Given the description of an element on the screen output the (x, y) to click on. 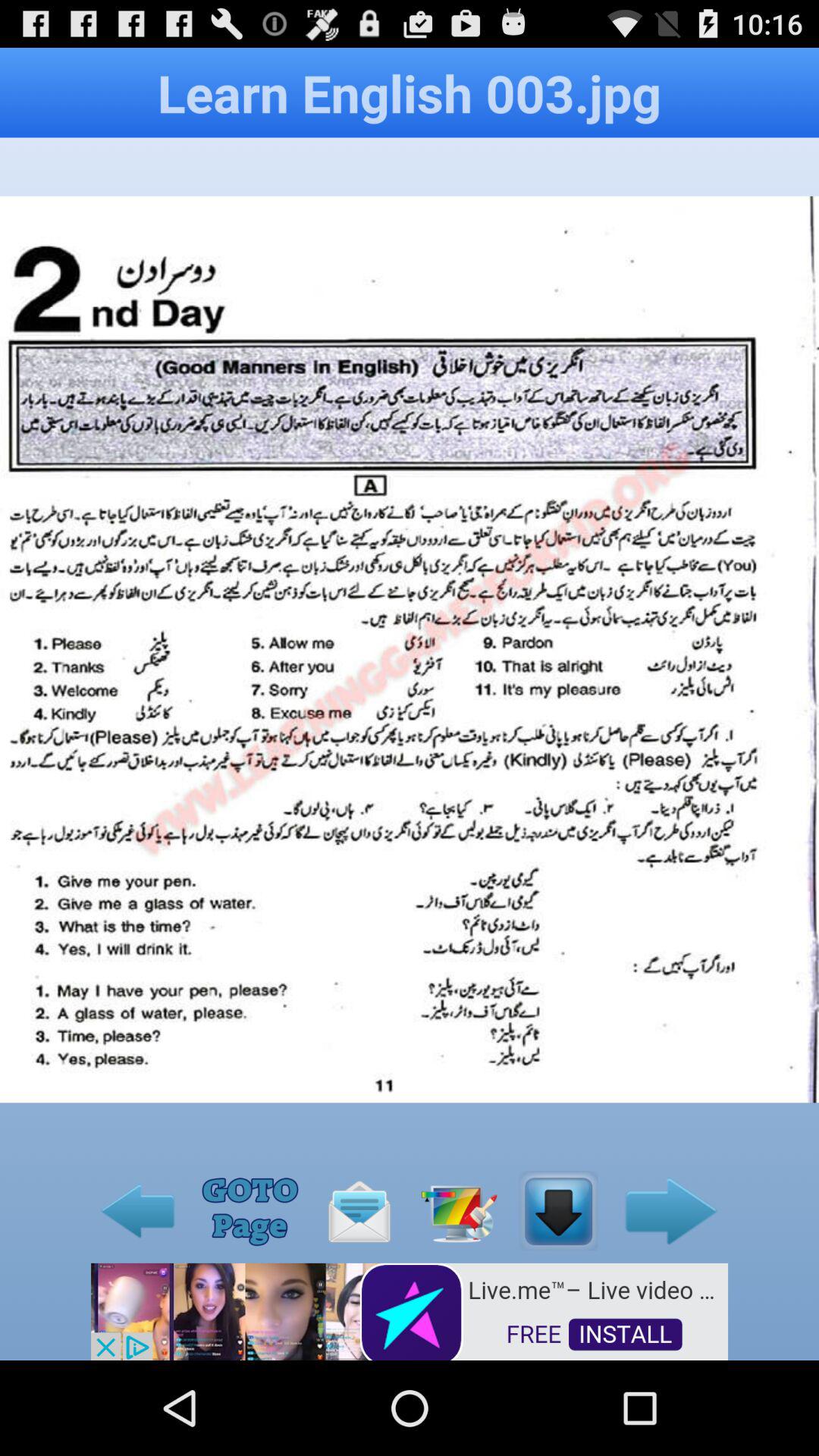
open advertisement (409, 1310)
